Given the description of an element on the screen output the (x, y) to click on. 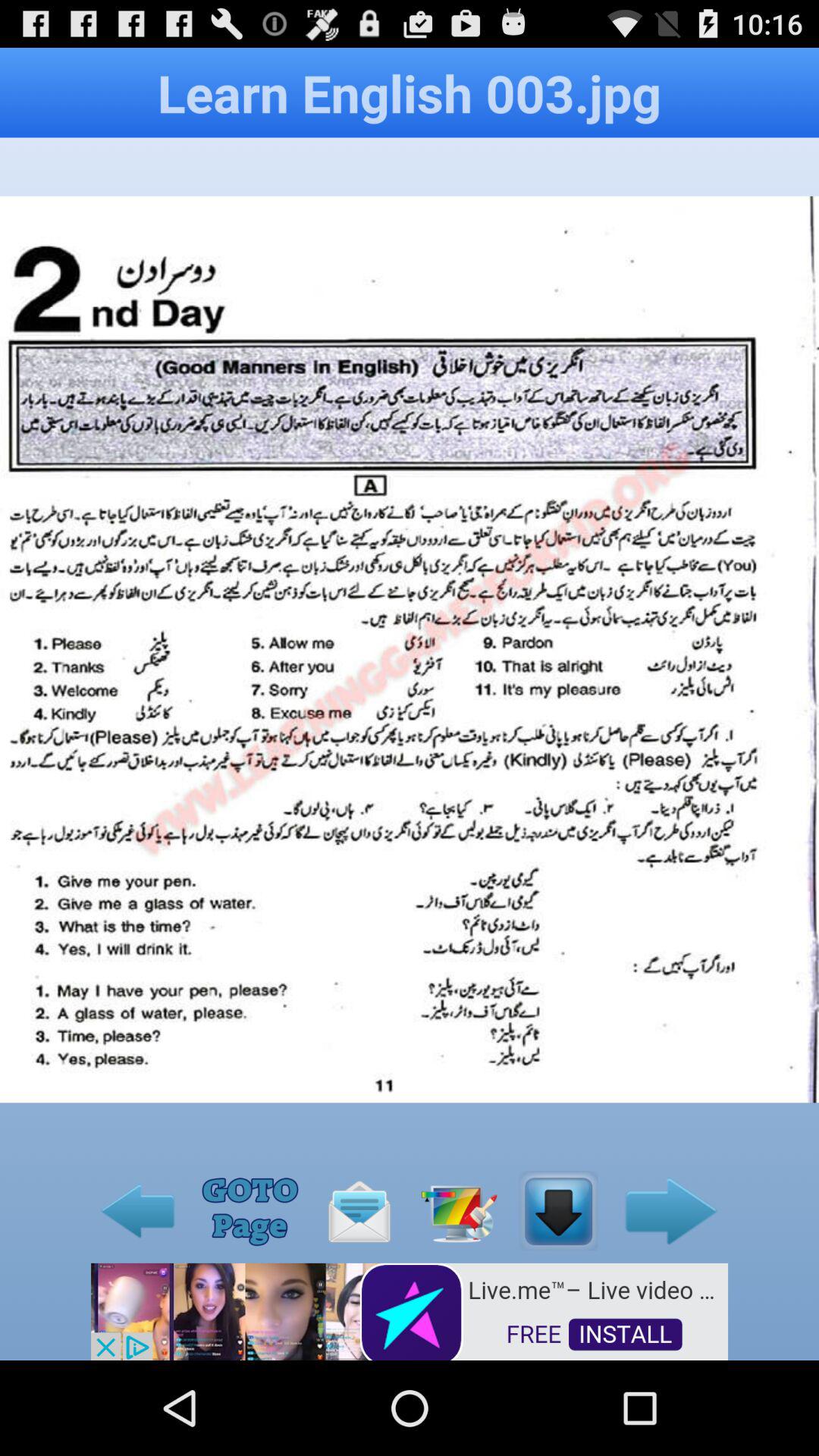
open advertisement (409, 1310)
